Given the description of an element on the screen output the (x, y) to click on. 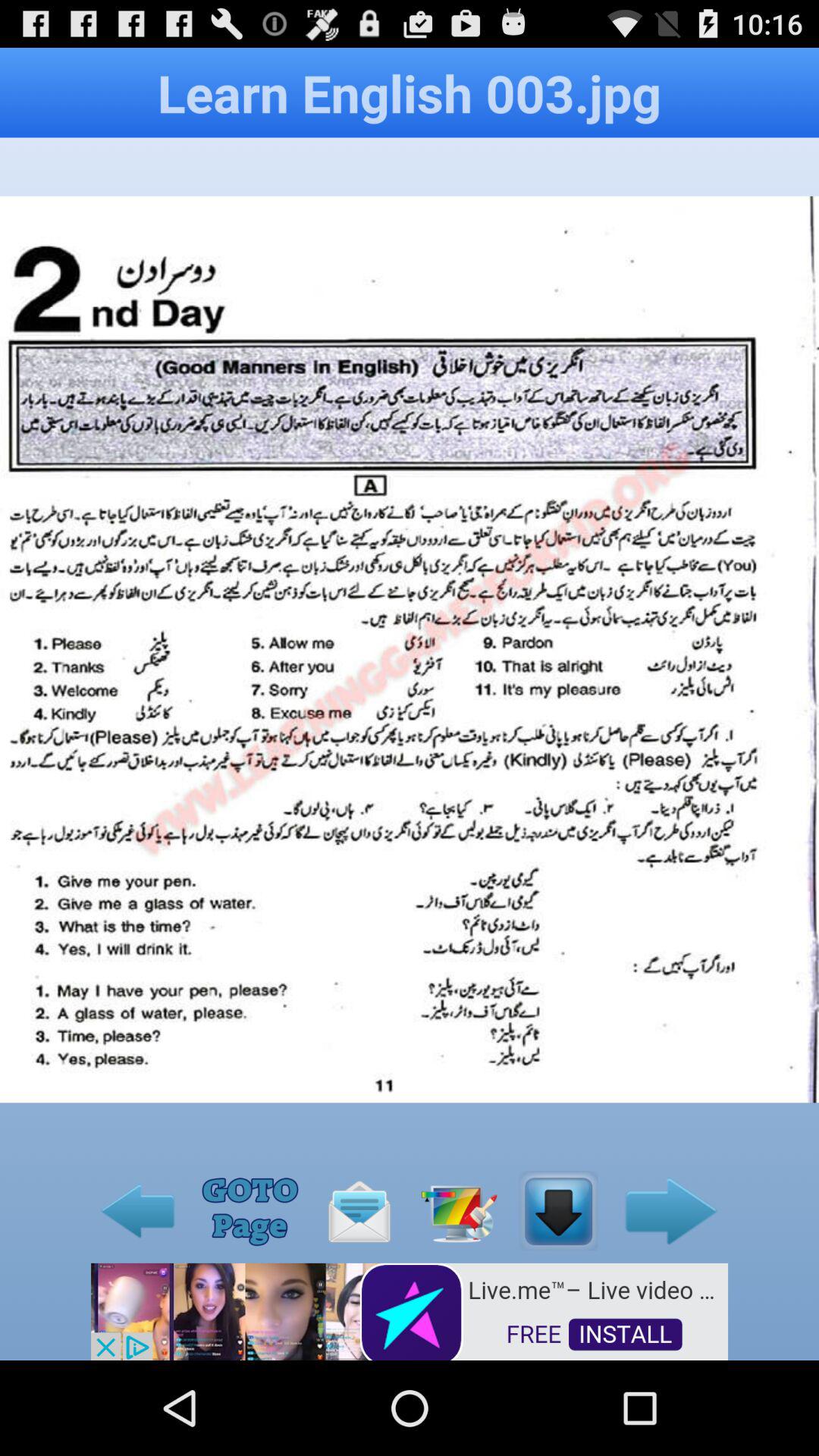
open advertisement (409, 1310)
